Given the description of an element on the screen output the (x, y) to click on. 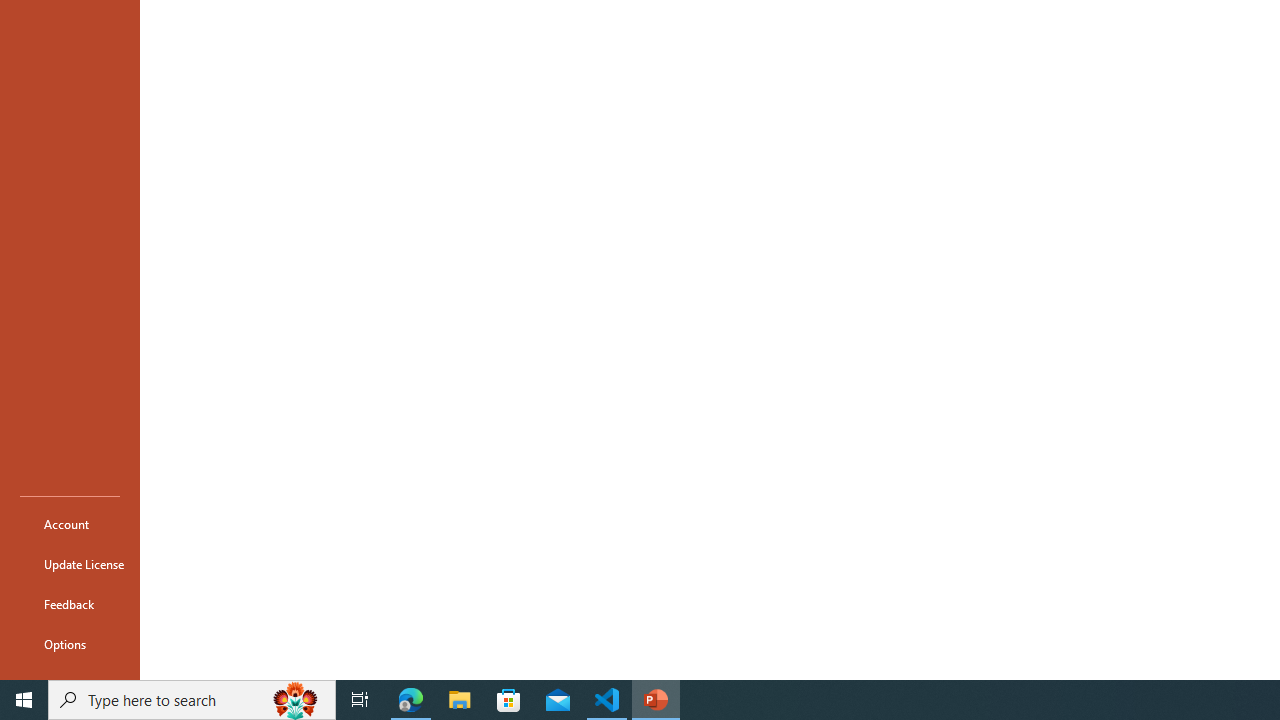
Update License (69, 563)
Feedback (69, 603)
Account (69, 523)
Options (69, 643)
